Given the description of an element on the screen output the (x, y) to click on. 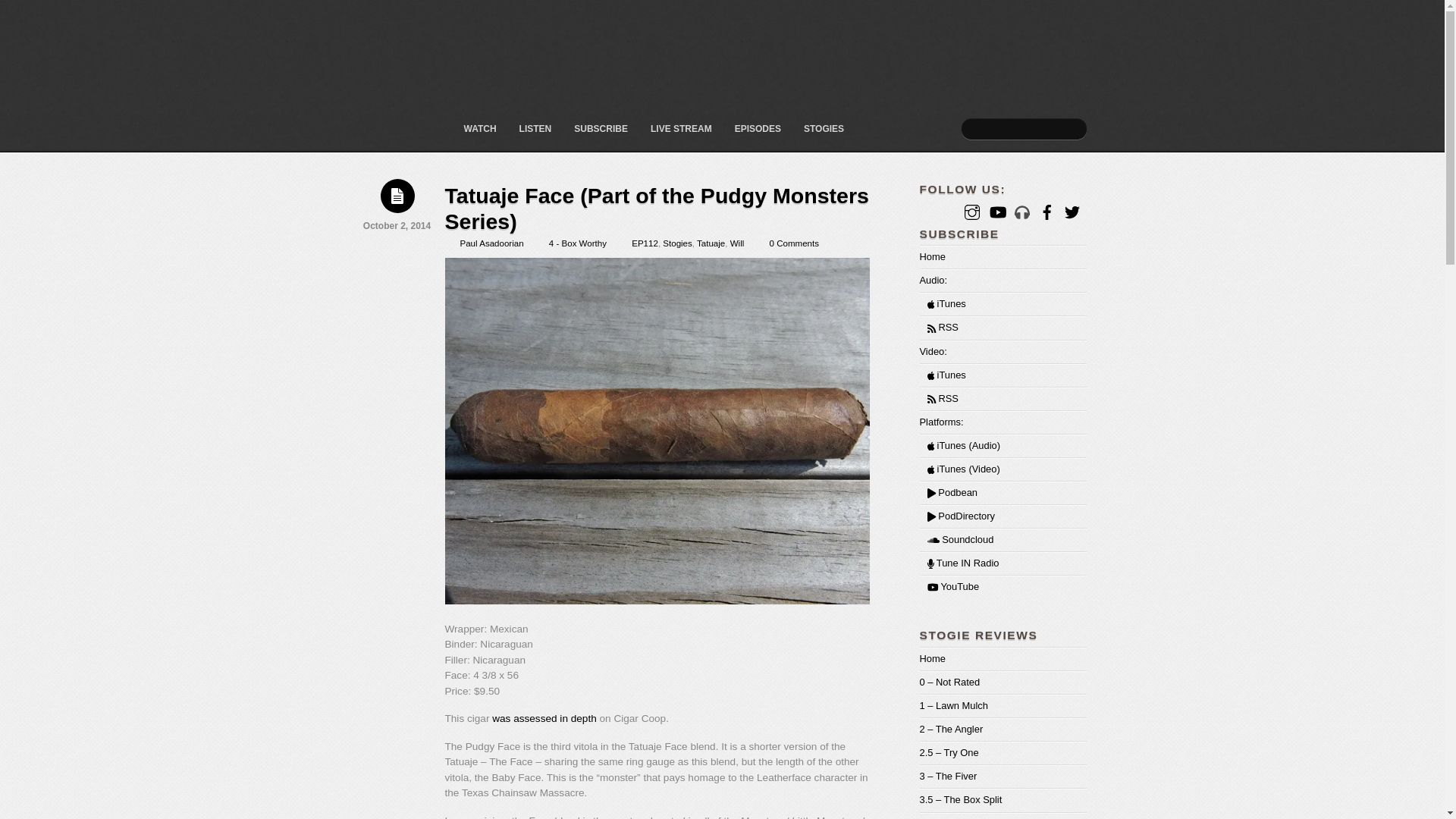
Tatuaje (711, 243)
LIVE STREAM (681, 128)
Search (1023, 128)
Home (931, 256)
HOME (442, 128)
LISTEN (535, 128)
was assessed in depth (544, 717)
EPISODES (757, 128)
Audio: (932, 279)
Paul Asadoorian (491, 243)
EP112 (644, 243)
STOGIES (824, 128)
SUBSCRIBE (600, 128)
4 - Box Worthy (577, 243)
Stogies (677, 243)
